Given the description of an element on the screen output the (x, y) to click on. 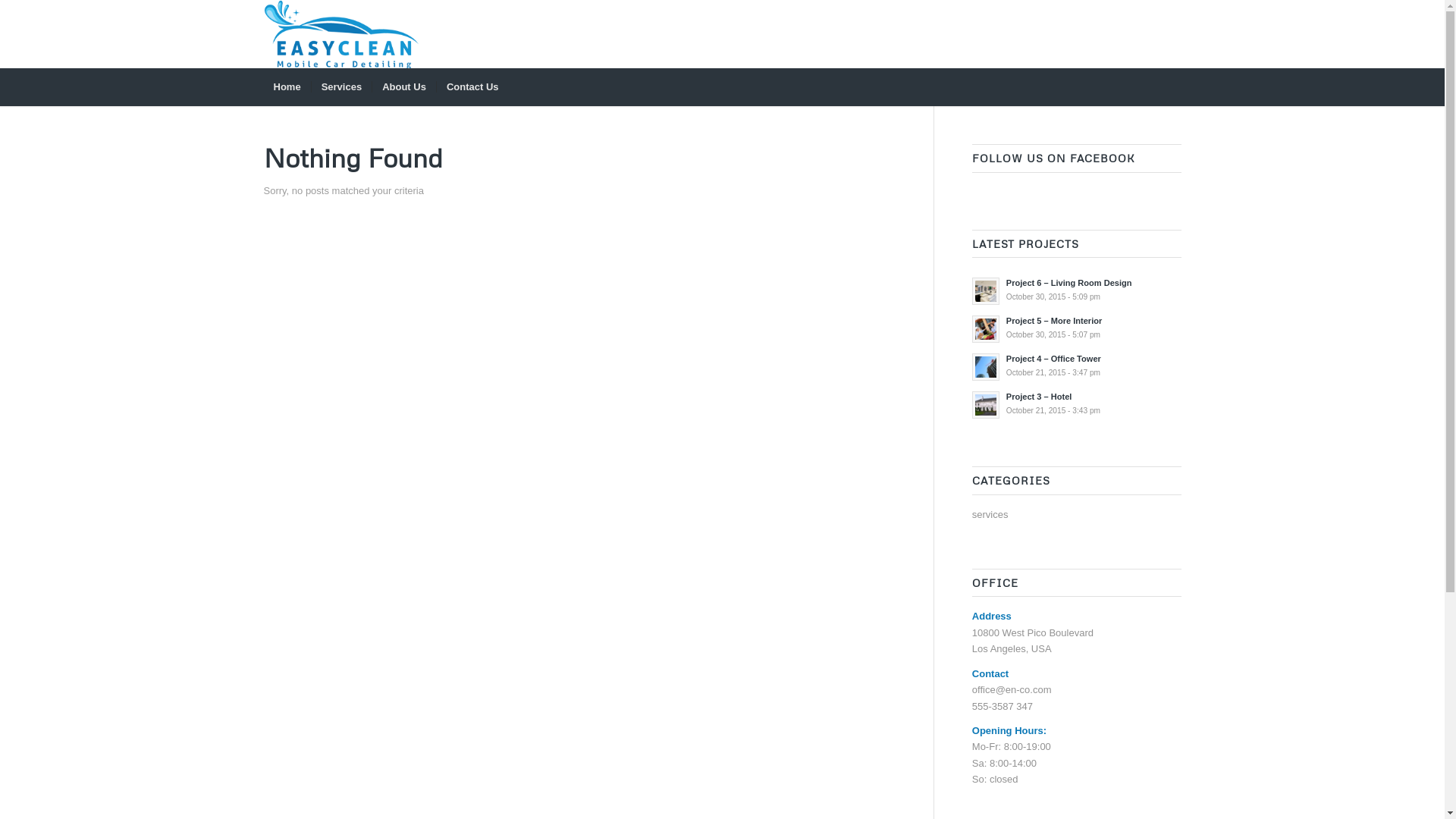
Contact Us Element type: text (472, 87)
Logo1 Element type: hover (342, 34)
About Us Element type: text (403, 87)
Services Element type: text (341, 87)
Home Element type: text (286, 87)
services Element type: text (990, 514)
